Given the description of an element on the screen output the (x, y) to click on. 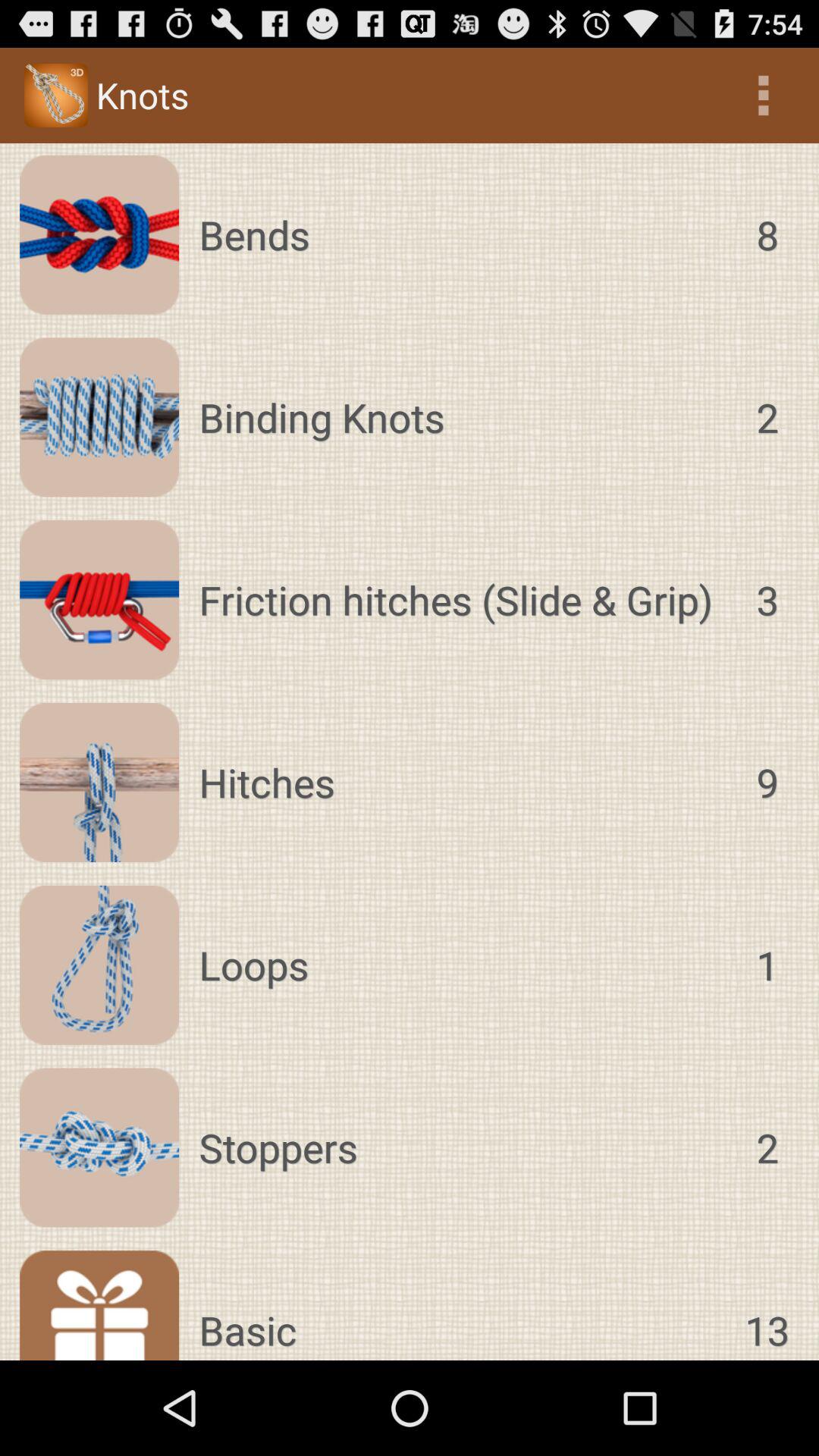
tap 13 item (767, 1305)
